Given the description of an element on the screen output the (x, y) to click on. 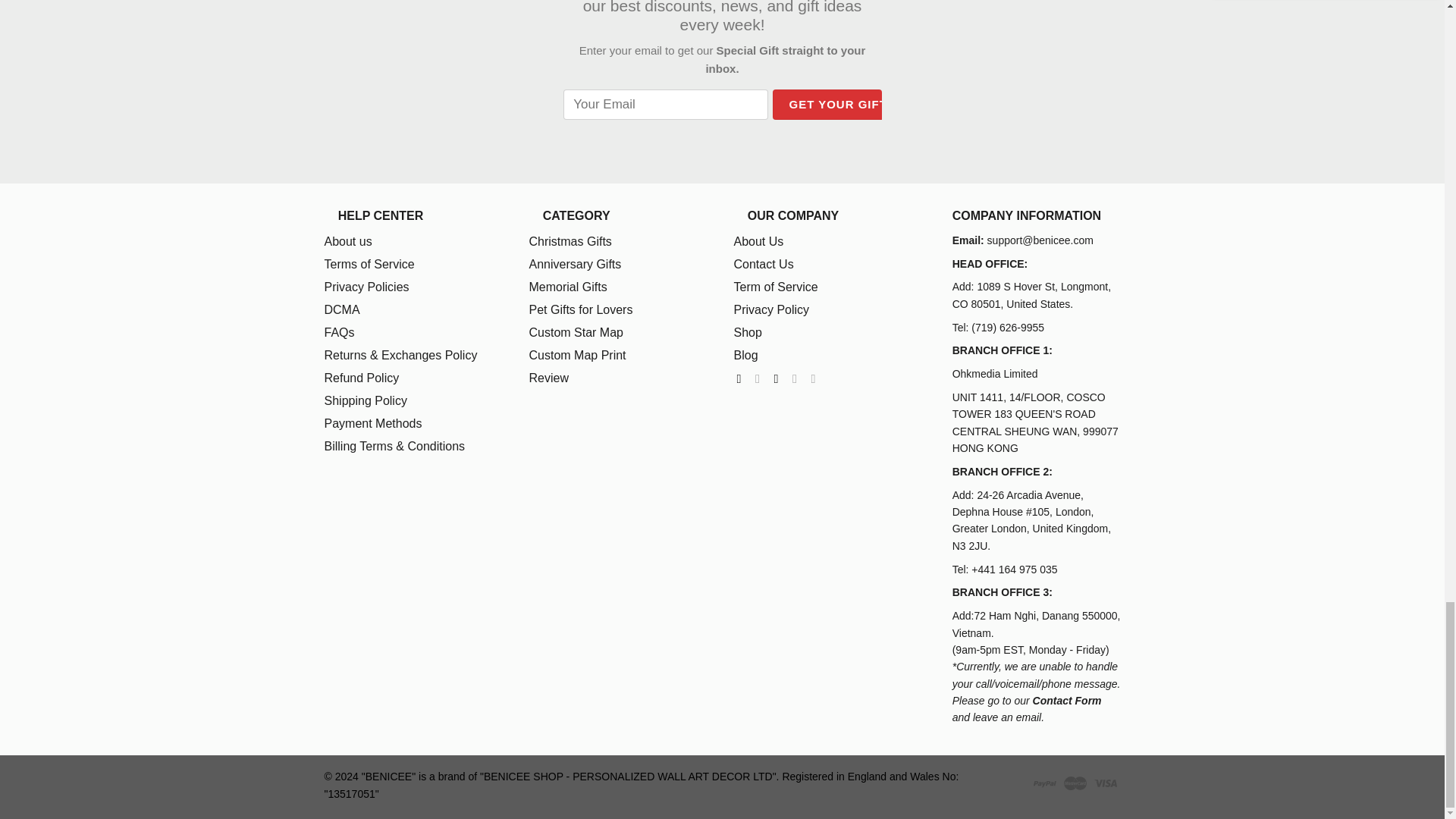
Follow on Instagram (761, 377)
Get Your Gift (837, 104)
Follow on Facebook (742, 377)
